Given the description of an element on the screen output the (x, y) to click on. 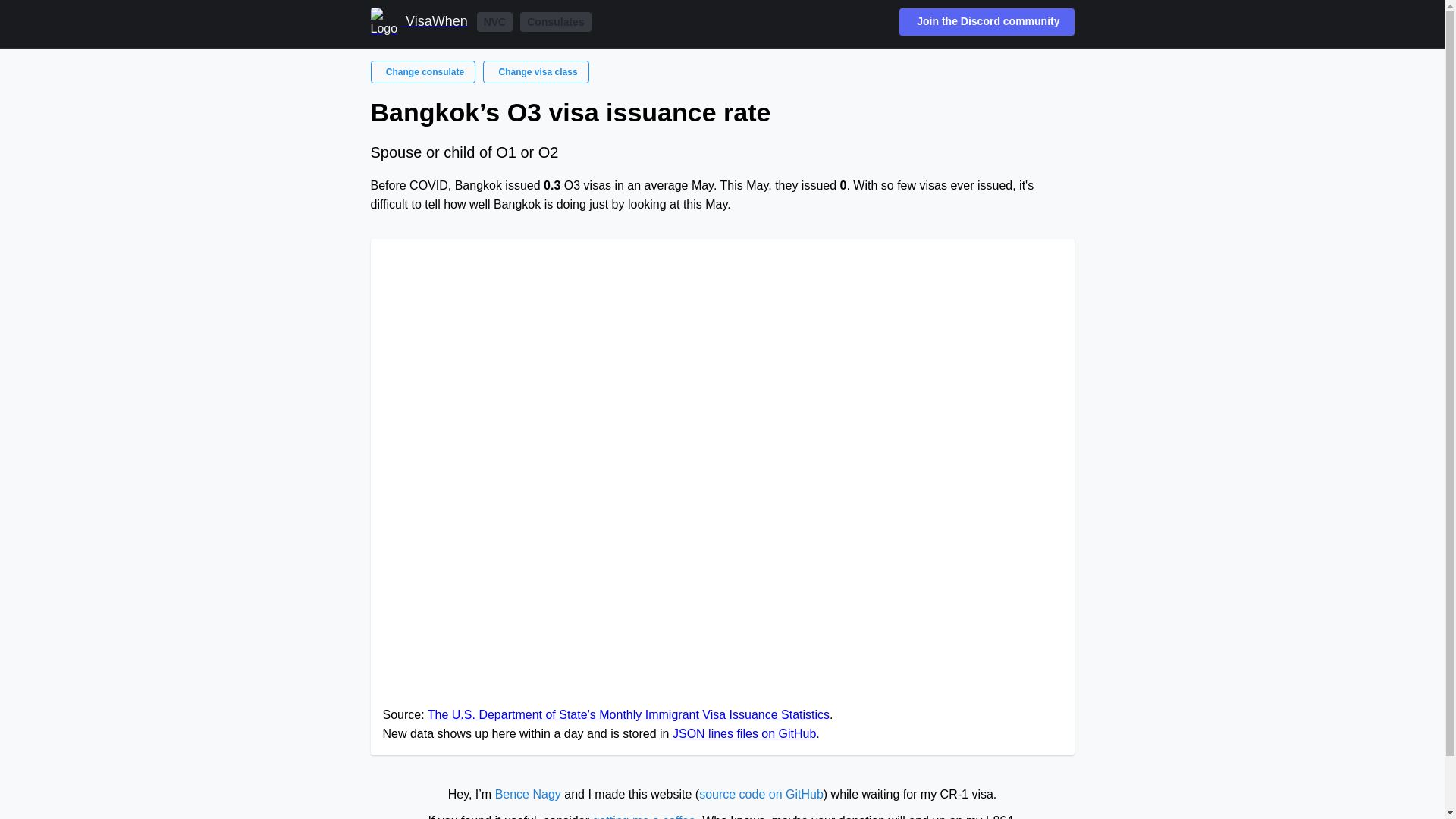
JSON lines files on GitHub (743, 733)
Consulates (555, 21)
Change consulate (422, 71)
source code on GitHub (761, 793)
Join the Discord community (986, 22)
 VisaWhen (418, 21)
Bence Nagy (527, 793)
getting me a coffee (643, 816)
NVC (495, 21)
Change visa class (535, 71)
